Given the description of an element on the screen output the (x, y) to click on. 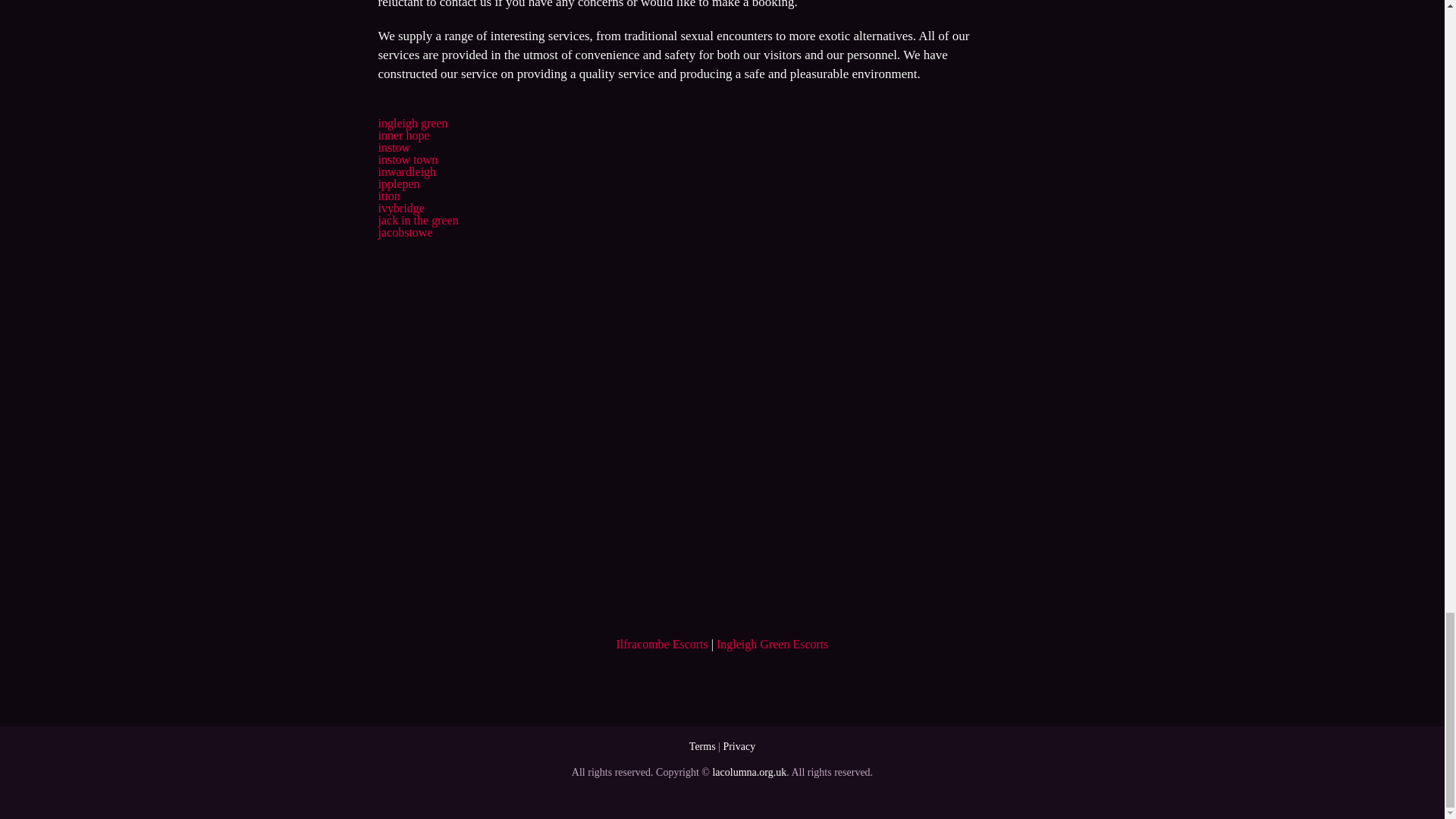
Terms (702, 746)
Terms (702, 746)
itton (387, 195)
lacolumna.org.uk (748, 772)
inner hope (403, 134)
Privacy (738, 746)
jacobstowe (404, 232)
instow town (407, 159)
Ingleigh Green Escorts (772, 644)
inwardleigh (406, 171)
ivybridge (400, 207)
jack in the green (417, 219)
ingleigh green (411, 123)
instow (393, 146)
Ilfracombe Escorts (661, 644)
